Given the description of an element on the screen output the (x, y) to click on. 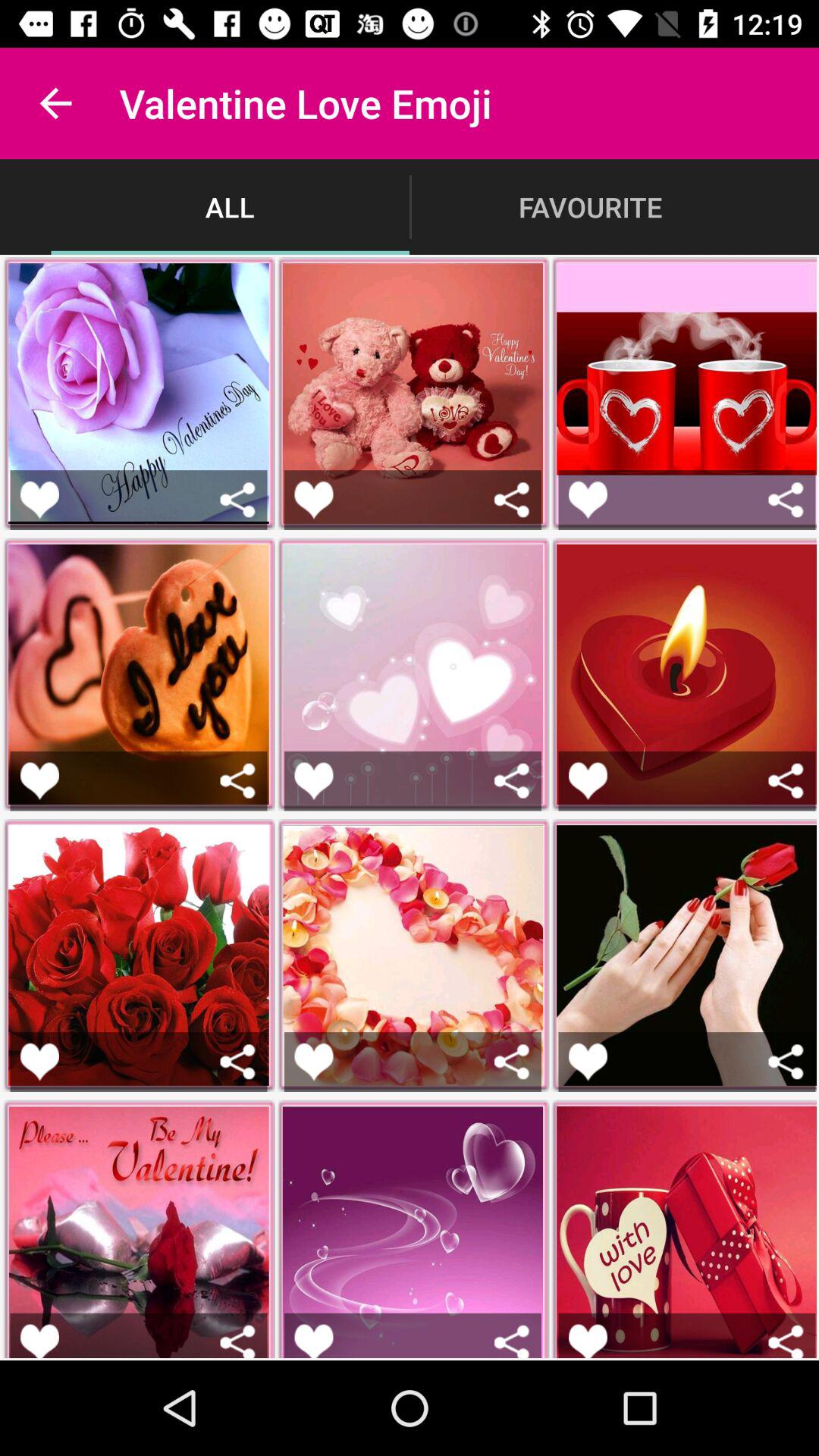
share (237, 780)
